Given the description of an element on the screen output the (x, y) to click on. 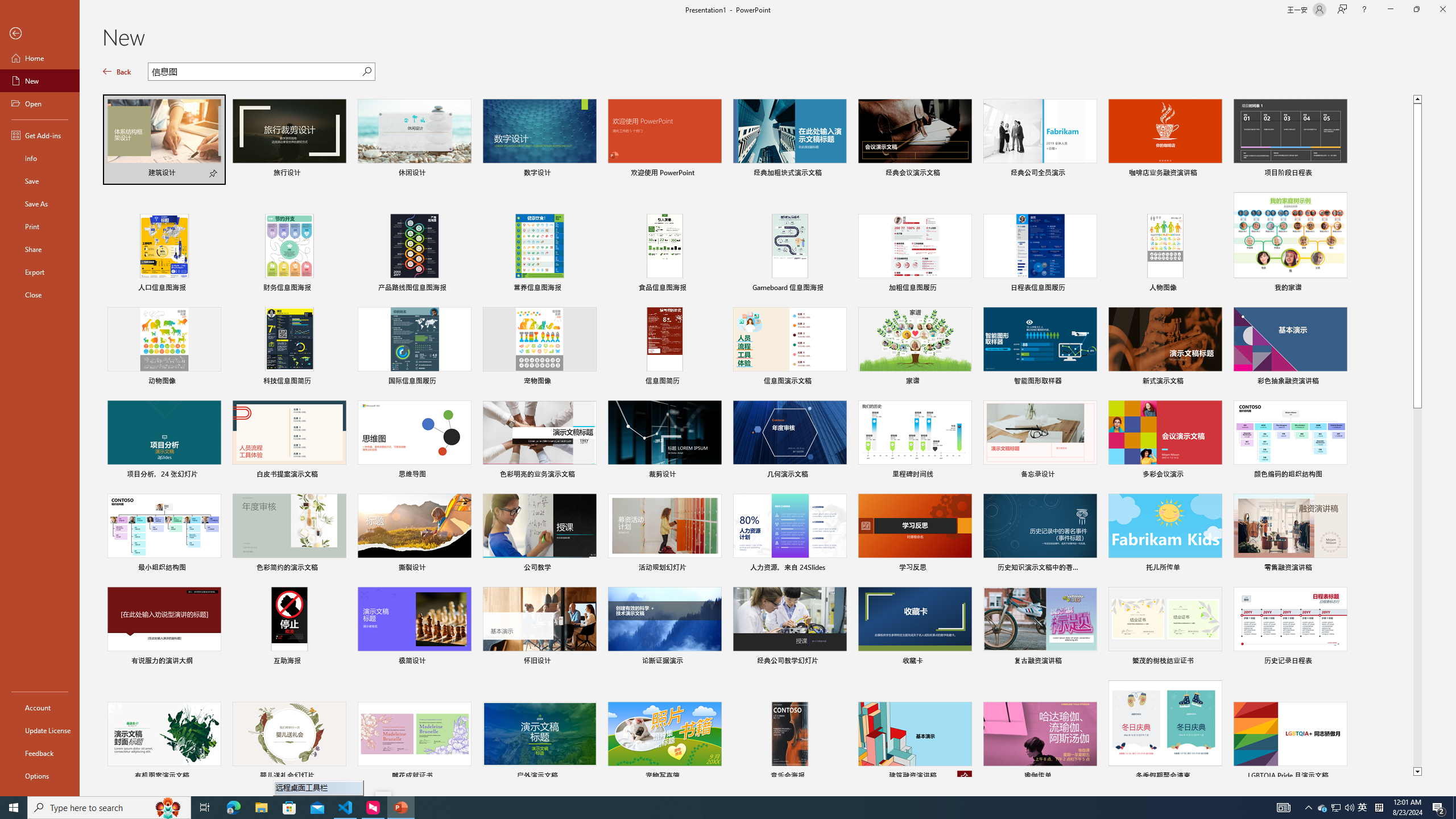
Start searching (366, 71)
